Given the description of an element on the screen output the (x, y) to click on. 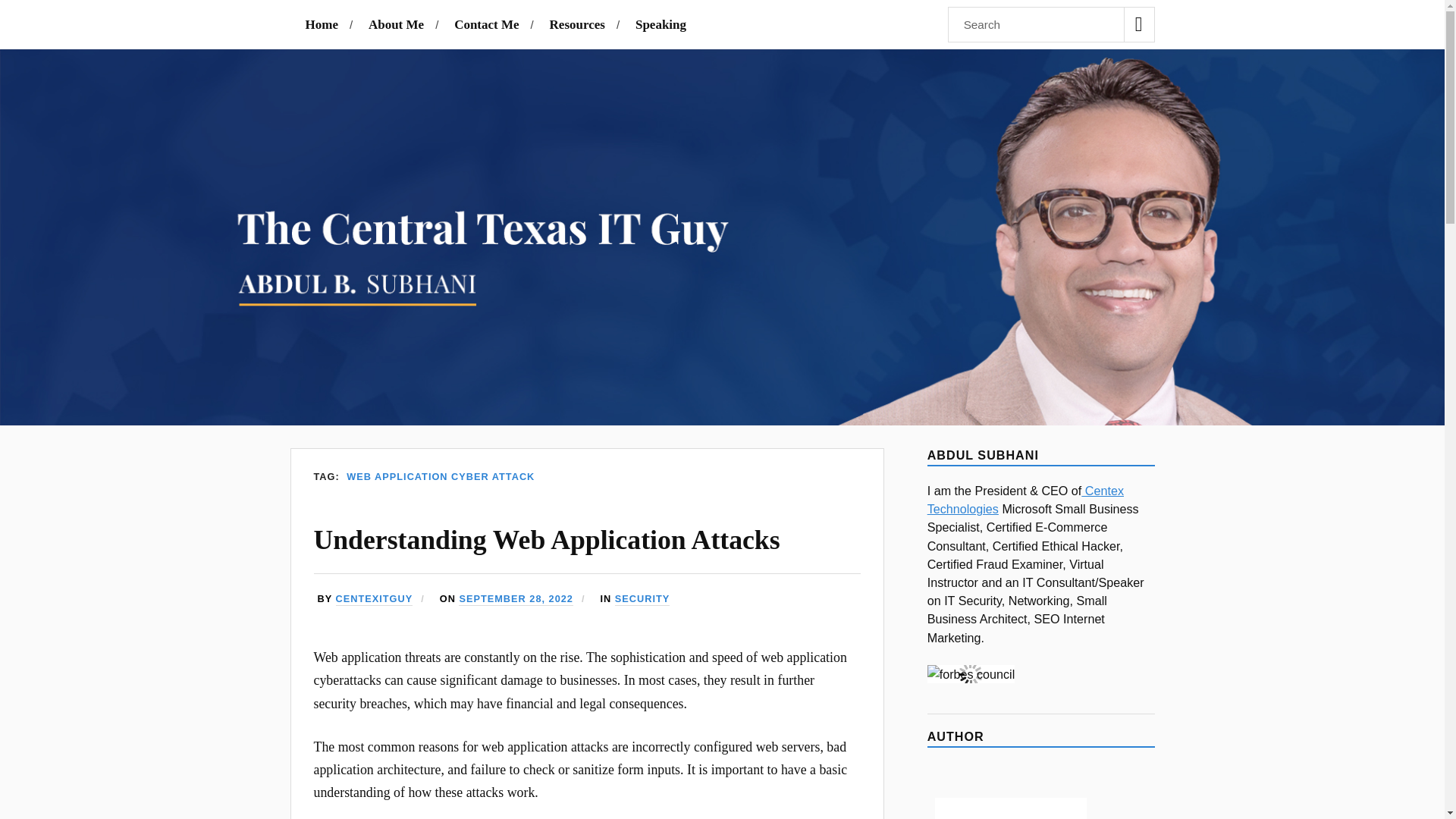
Centex Technologies (1025, 499)
SEPTEMBER 28, 2022 (515, 599)
Contact Me (486, 24)
Posts by centexitguy (374, 599)
Understanding Web Application Attacks (547, 539)
CENTEXITGUY (374, 599)
Home (320, 24)
SECURITY (641, 599)
Resources (577, 24)
About Me (395, 24)
Speaking (659, 24)
